Given the description of an element on the screen output the (x, y) to click on. 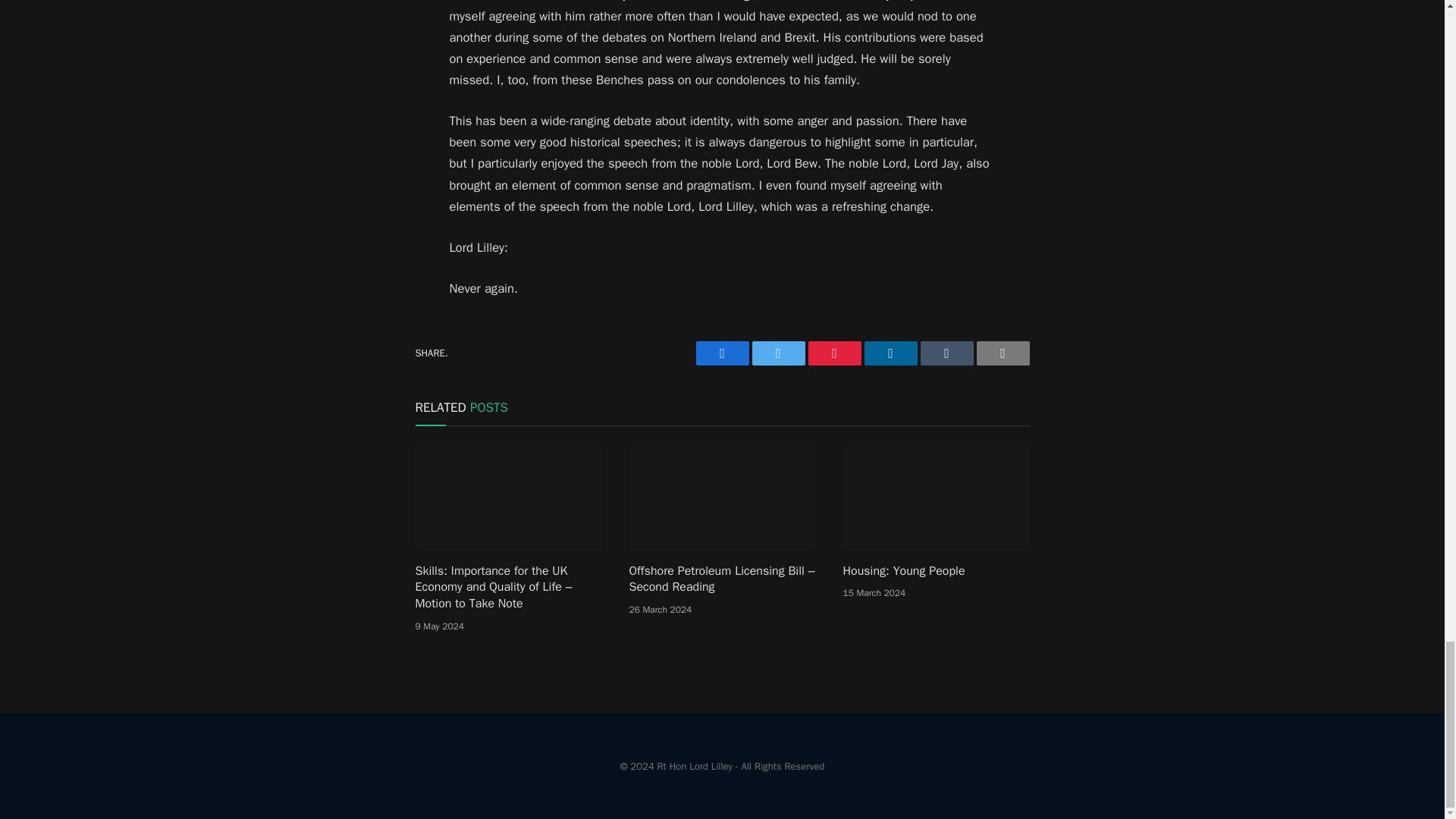
Share on Facebook (722, 353)
Facebook (722, 353)
Twitter (778, 353)
